Given the description of an element on the screen output the (x, y) to click on. 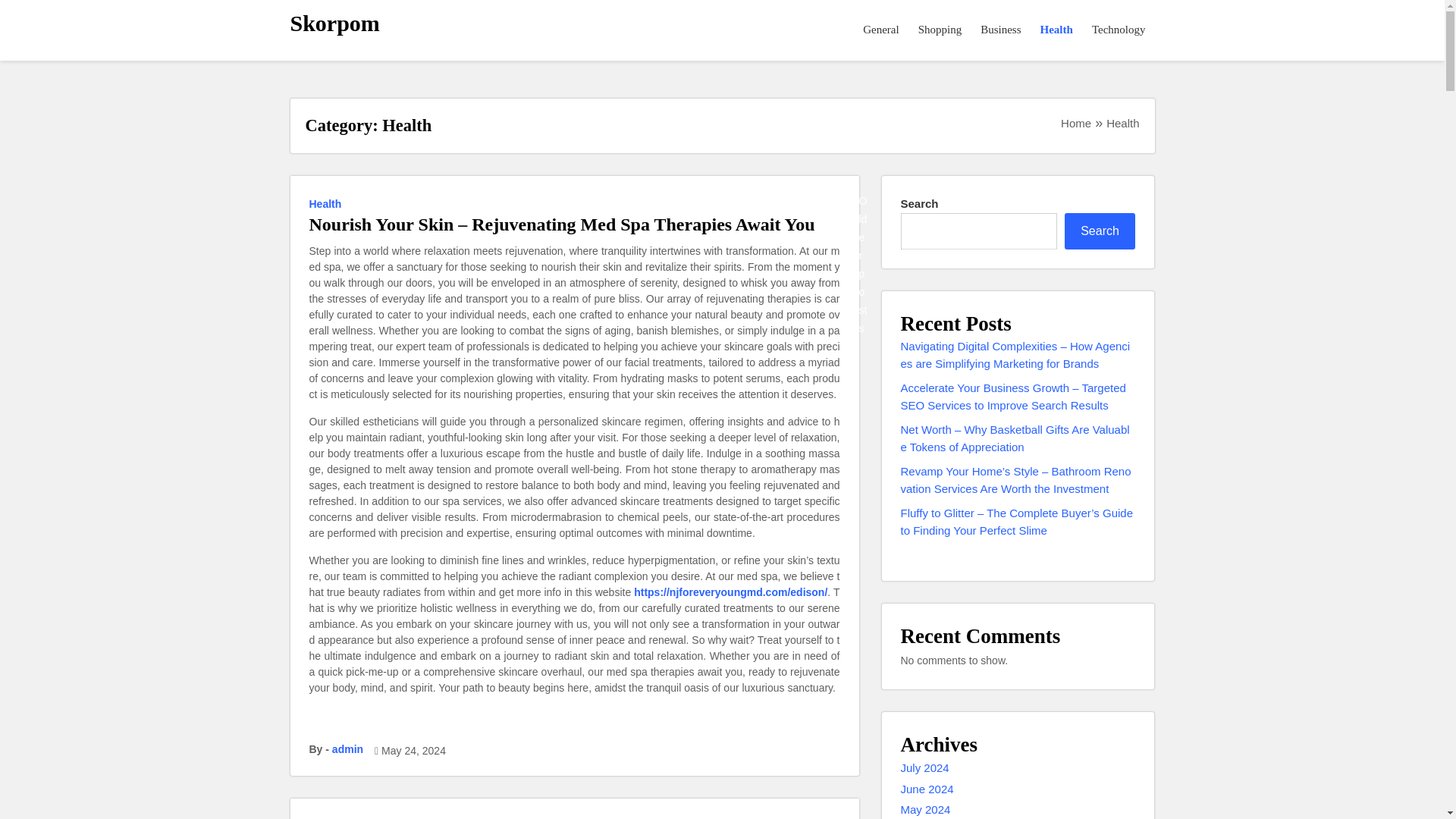
Business (1000, 29)
General (880, 29)
Technology (1119, 29)
Health (327, 818)
May 24, 2024 (413, 751)
General (880, 29)
Shopping (940, 29)
Health (327, 203)
Home (1075, 123)
Technology (1119, 29)
admin (346, 749)
Shopping (940, 29)
Business (1000, 29)
Skorpom (333, 23)
